Given the description of an element on the screen output the (x, y) to click on. 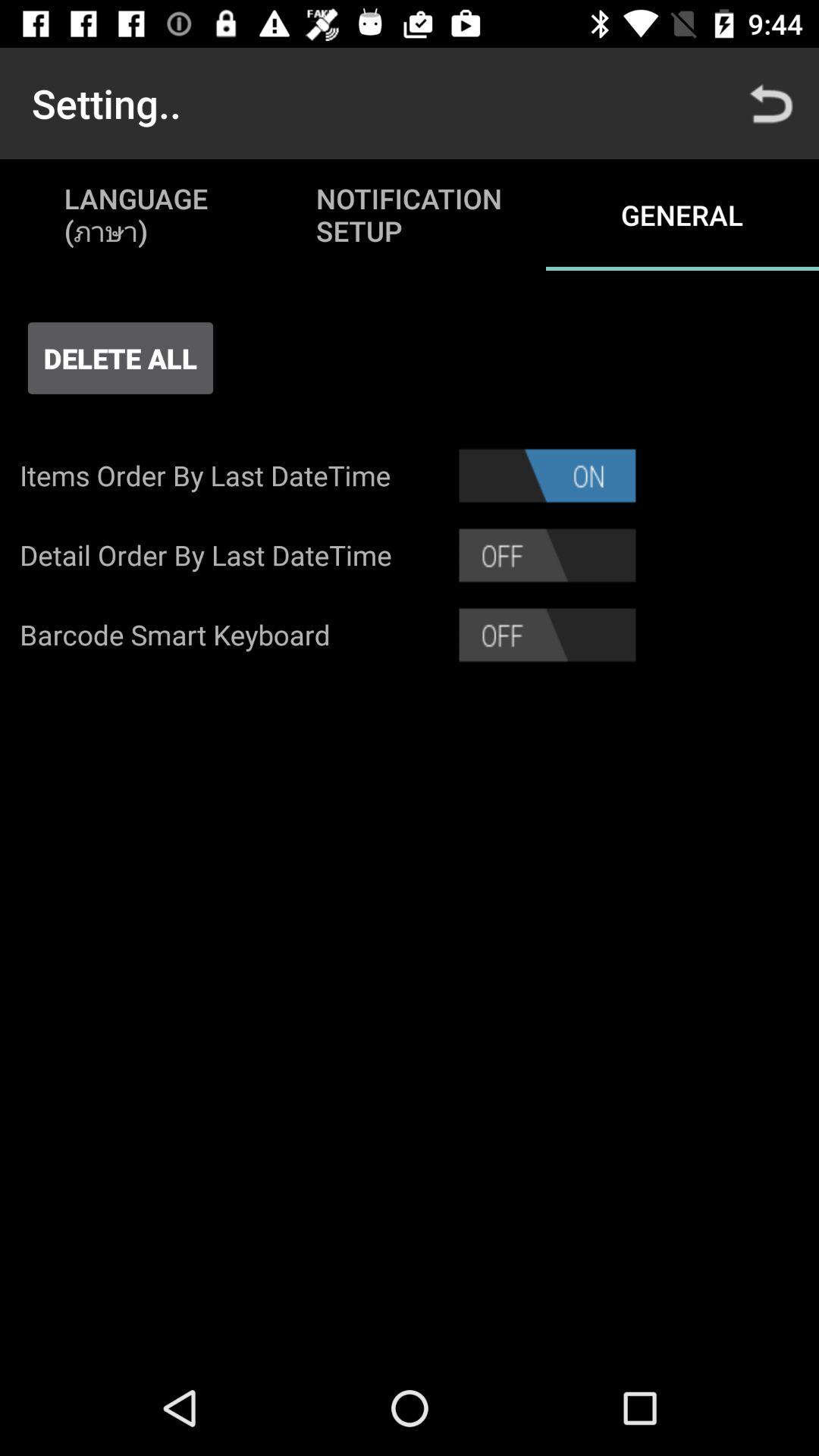
swipe until delete all icon (120, 358)
